Given the description of an element on the screen output the (x, y) to click on. 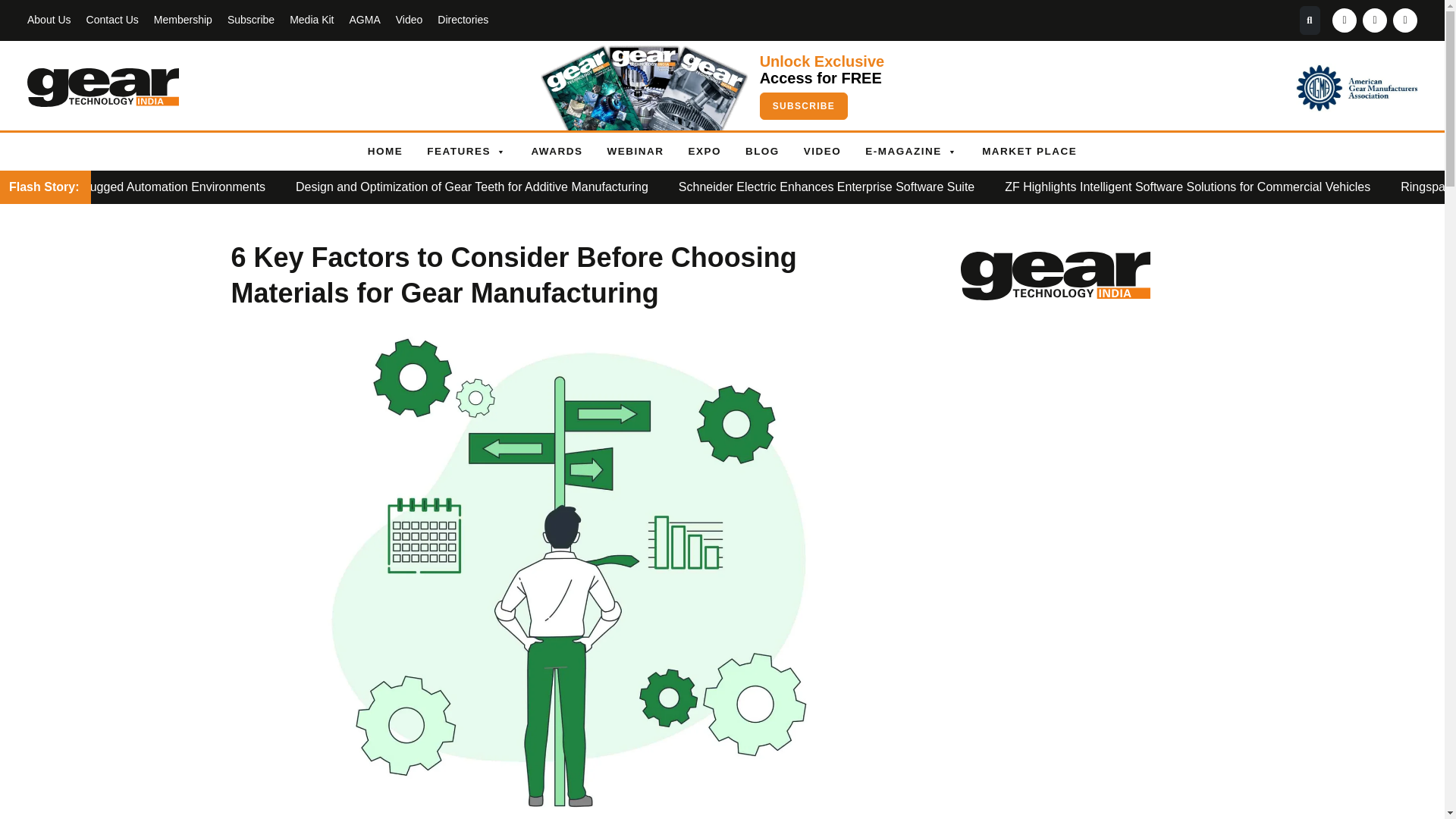
FEATURES (466, 151)
Video (409, 19)
BLOG (762, 151)
SUBSCRIBE (804, 105)
Membership (183, 19)
Subscribe (251, 19)
Media Kit (311, 19)
EXPO (703, 151)
AGMA (364, 19)
Contact Us (111, 19)
